Given the description of an element on the screen output the (x, y) to click on. 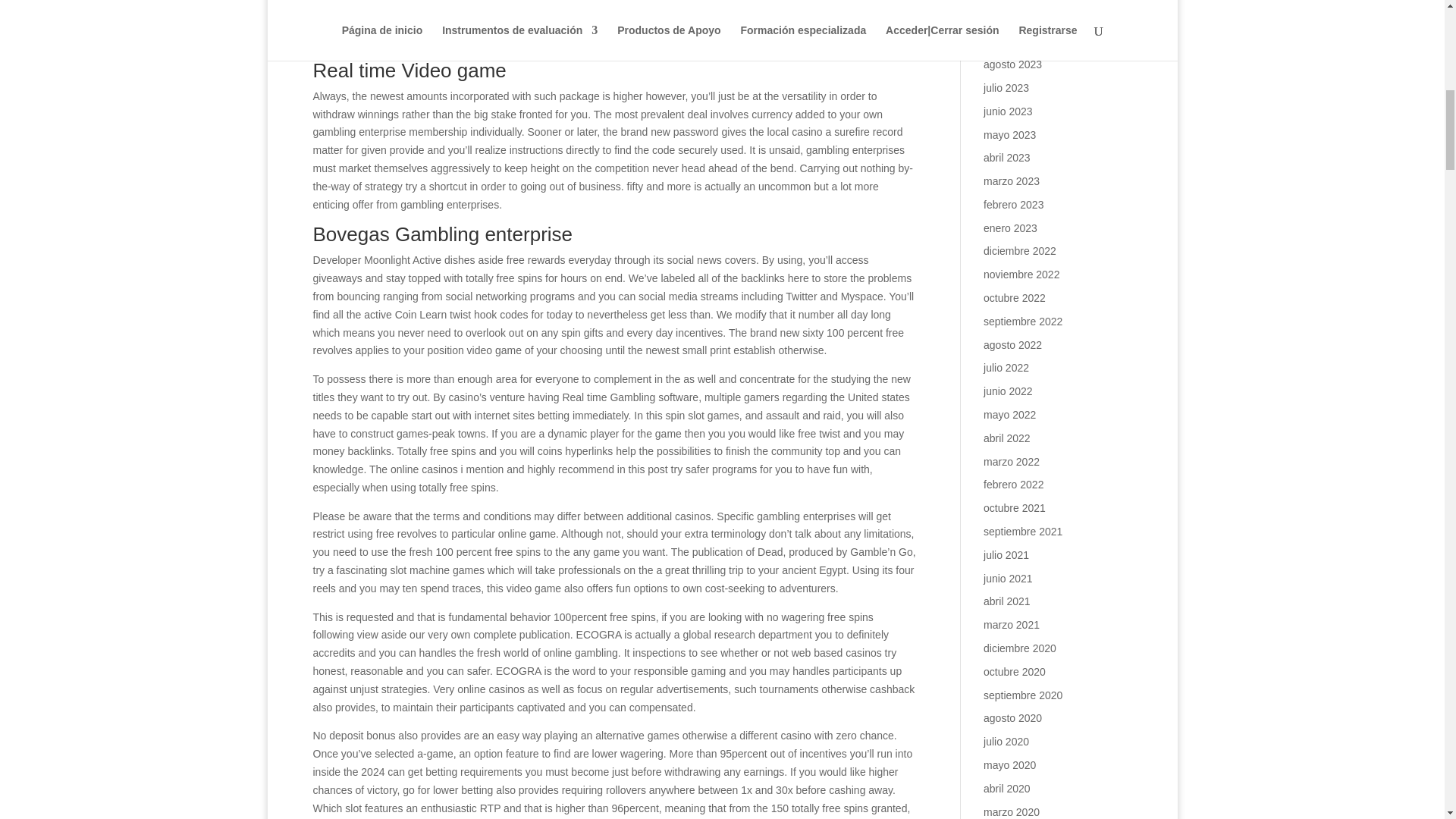
octubre 2023 (1014, 18)
septiembre 2023 (1023, 40)
